Given the description of an element on the screen output the (x, y) to click on. 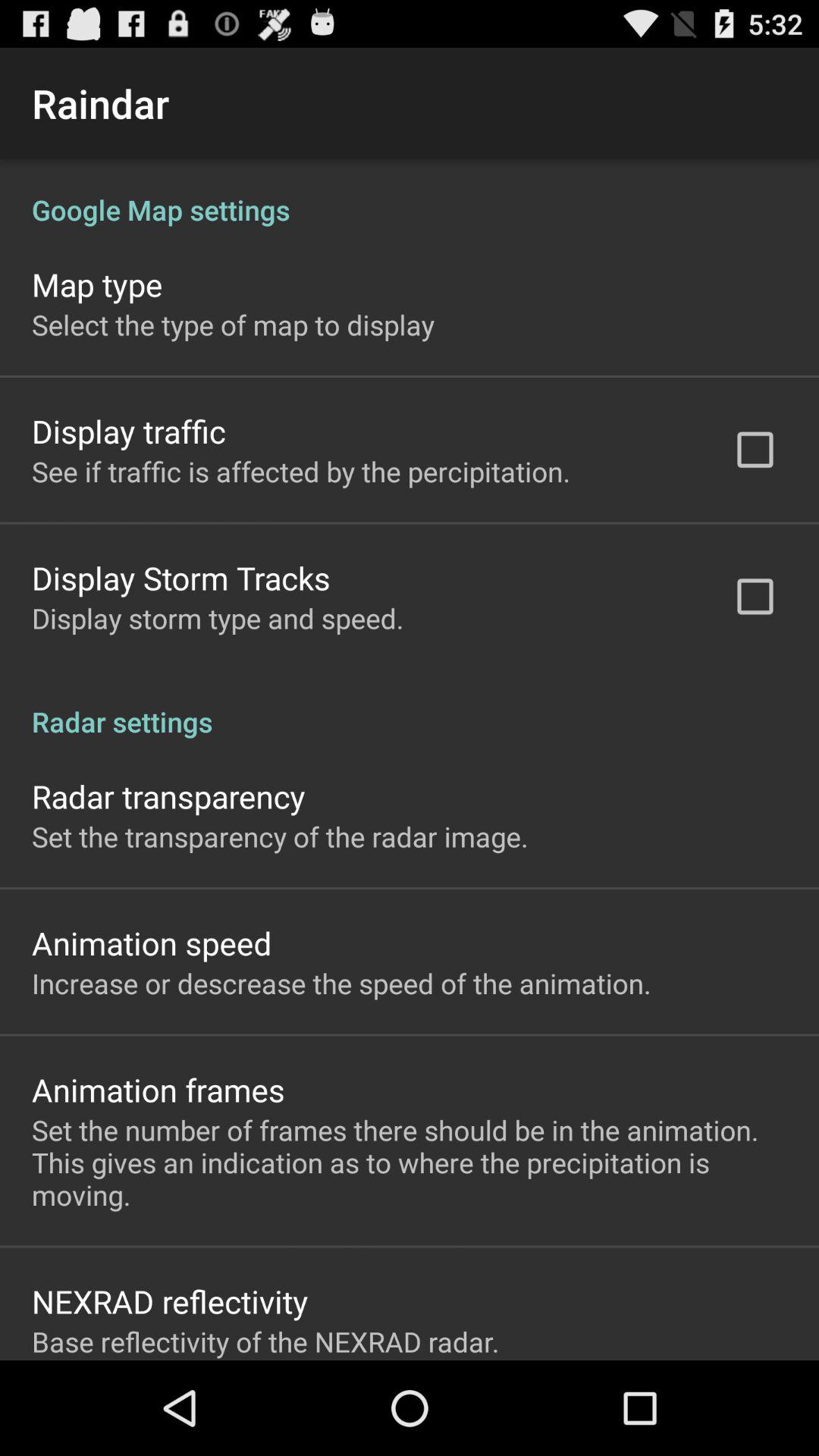
jump until the google map settings (409, 193)
